Given the description of an element on the screen output the (x, y) to click on. 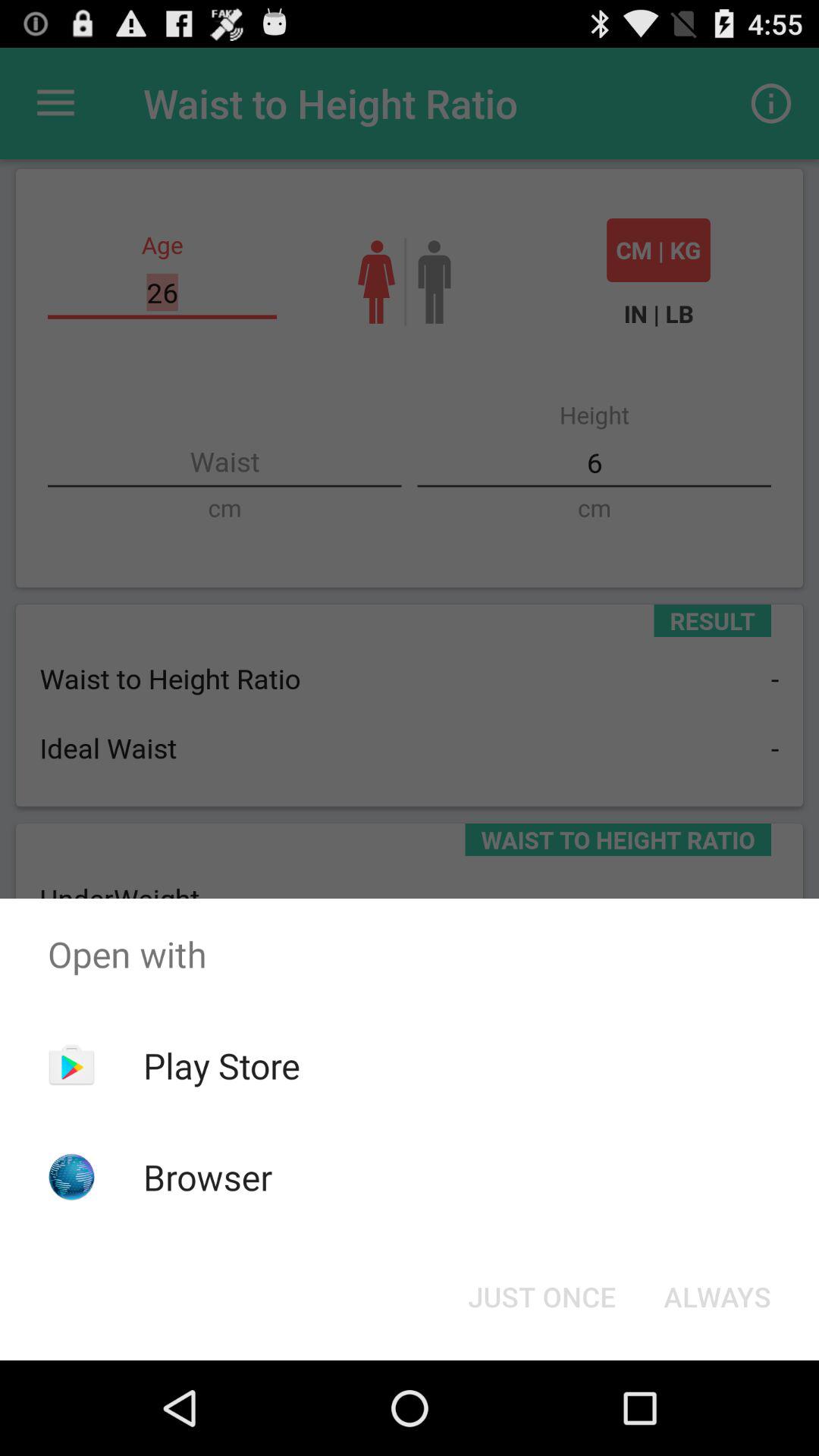
turn off browser item (207, 1176)
